Given the description of an element on the screen output the (x, y) to click on. 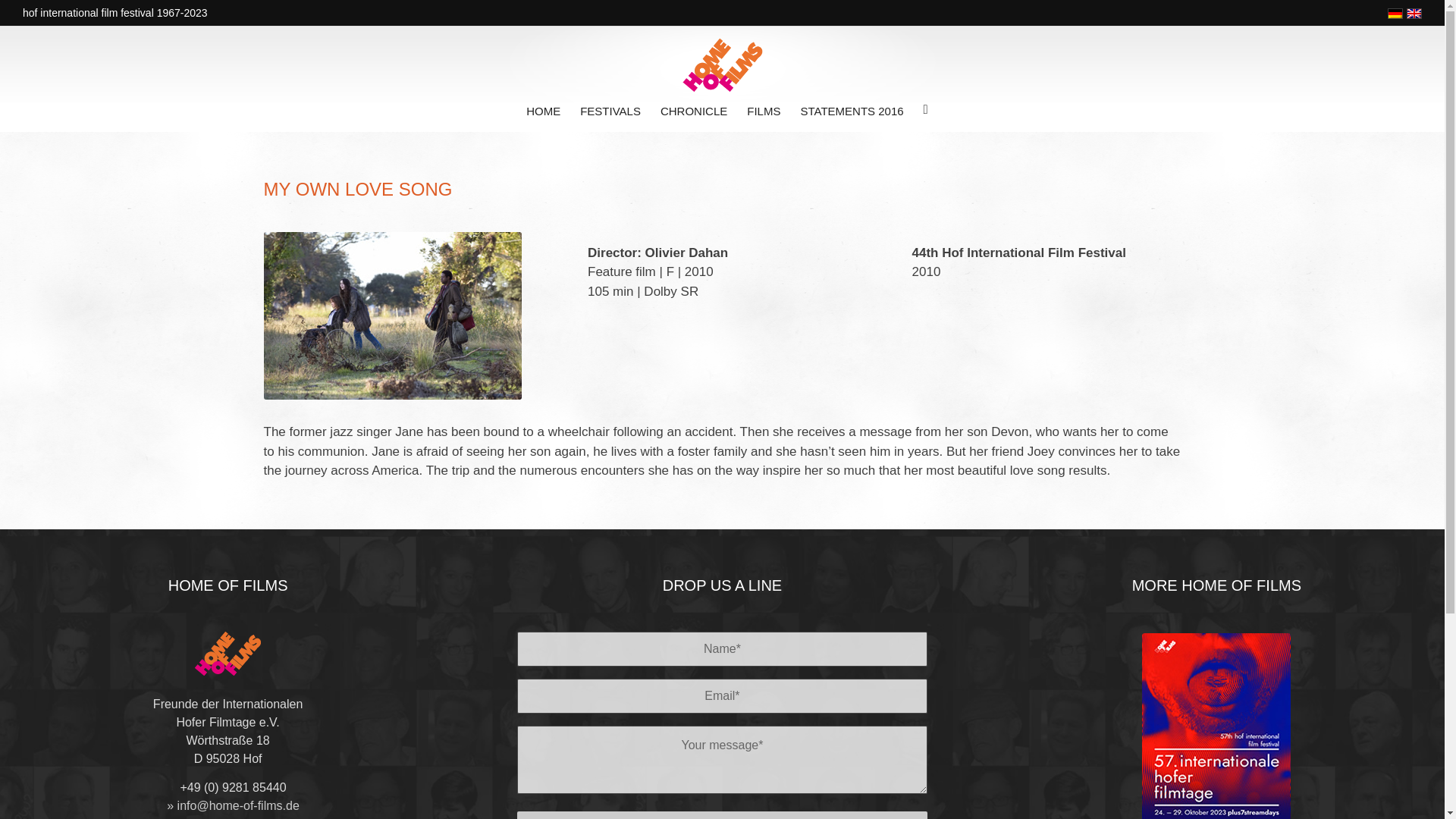
CHRONICLE (693, 111)
HOME (543, 111)
MY OWN LOVE SONG (392, 315)
FESTIVALS (610, 111)
FILMS (763, 111)
English (1414, 13)
STATEMENTS 2016 (851, 111)
Internationale Hofer Filmtage (721, 64)
Deutsch (1395, 13)
